Given the description of an element on the screen output the (x, y) to click on. 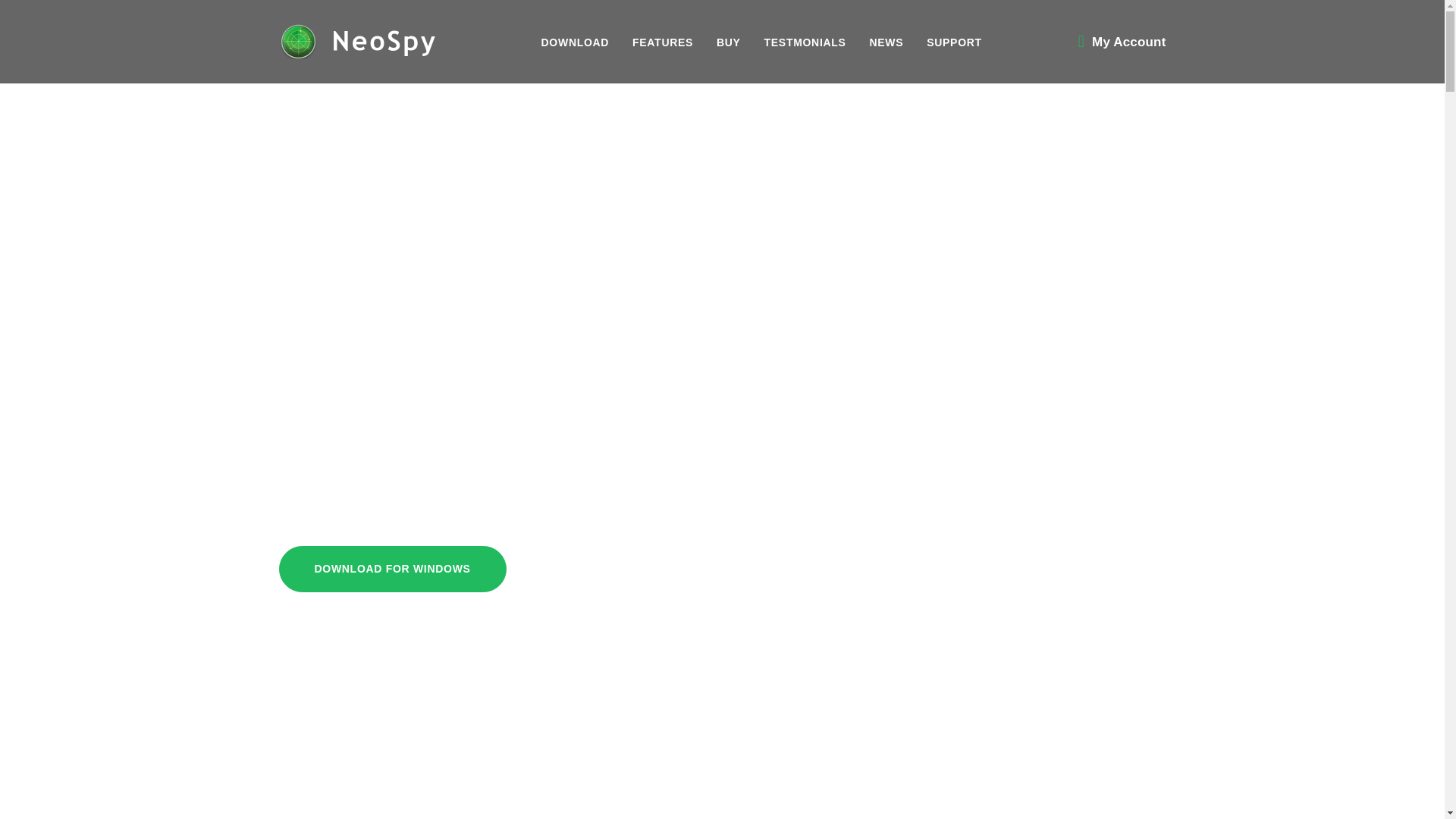
SUPPORT (953, 42)
BUY (728, 42)
NEWS (885, 42)
My Account (1129, 40)
DOWNLOAD (575, 42)
FEATURES (662, 42)
TESTMONIALS (804, 42)
DOWNLOAD FOR WINDOWS (392, 569)
